Given the description of an element on the screen output the (x, y) to click on. 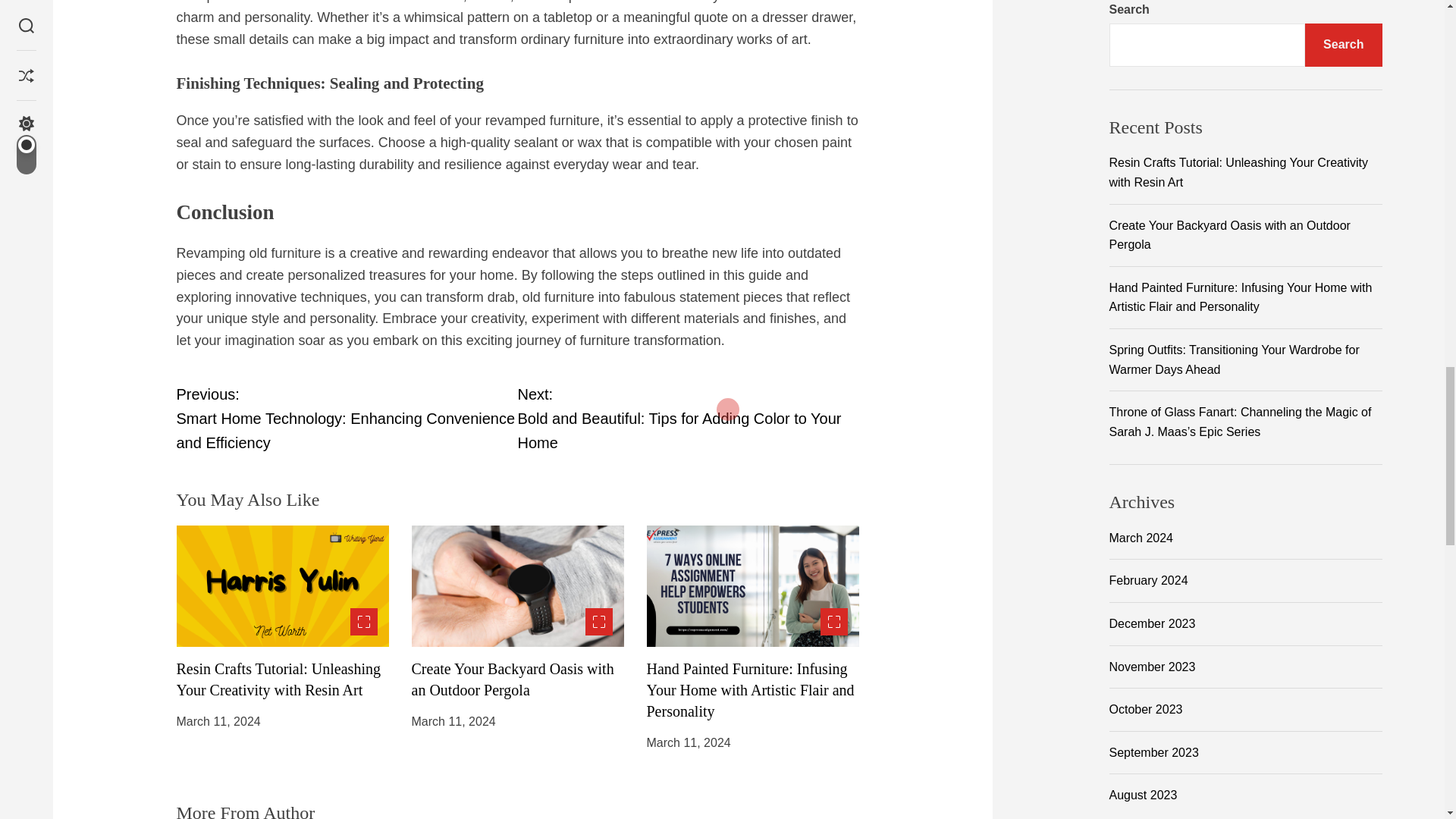
Create Your Backyard Oasis with an Outdoor Pergola (687, 418)
